Given the description of an element on the screen output the (x, y) to click on. 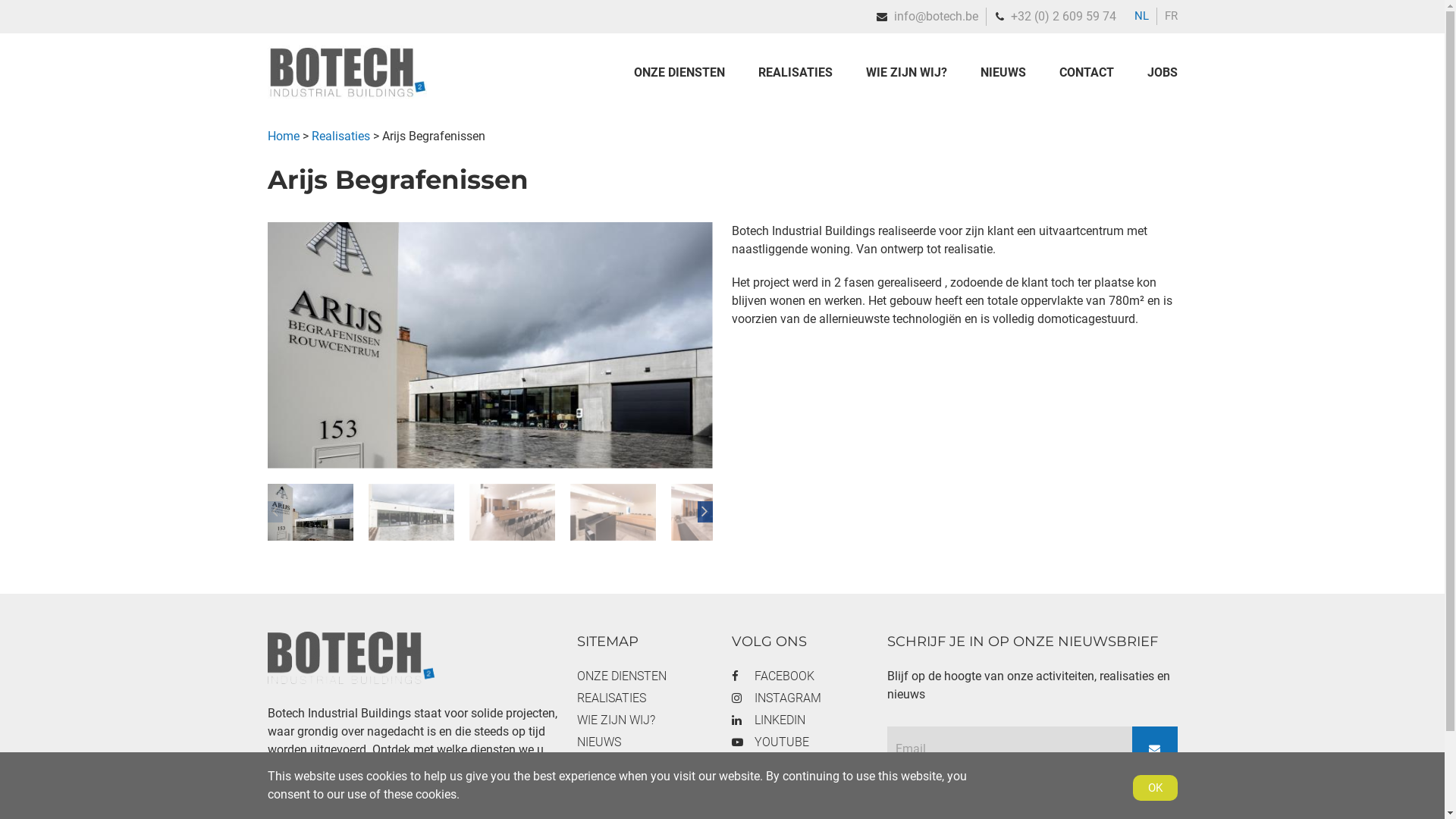
ONZE DIENSTEN Element type: text (686, 72)
Realisaties Element type: text (339, 135)
FR Element type: text (1170, 15)
YOUTUBE Element type: text (799, 742)
JOBS Element type: text (1153, 72)
WIE ZIJN WIJ? Element type: text (906, 72)
Home Element type: hover (346, 94)
NIEUWS Element type: text (1002, 72)
REALISATIES Element type: text (795, 72)
LEES MEER Element type: text (311, 805)
NIEUWS Element type: text (644, 742)
CONTACT Element type: text (1085, 72)
Home Element type: text (282, 135)
+32 (0) 2 609 59 74 Element type: text (1062, 16)
NL Element type: text (1141, 15)
CONTACT Element type: text (644, 764)
info@botech.be Element type: text (935, 16)
ONZE DIENSTEN Element type: text (644, 676)
INSTAGRAM Element type: text (799, 698)
FACEBOOK Element type: text (799, 676)
WIE ZIJN WIJ? Element type: text (644, 720)
Ok Element type: text (1154, 787)
LINKEDIN Element type: text (799, 720)
JOBS Element type: text (644, 786)
REALISATIES Element type: text (644, 698)
